Given the description of an element on the screen output the (x, y) to click on. 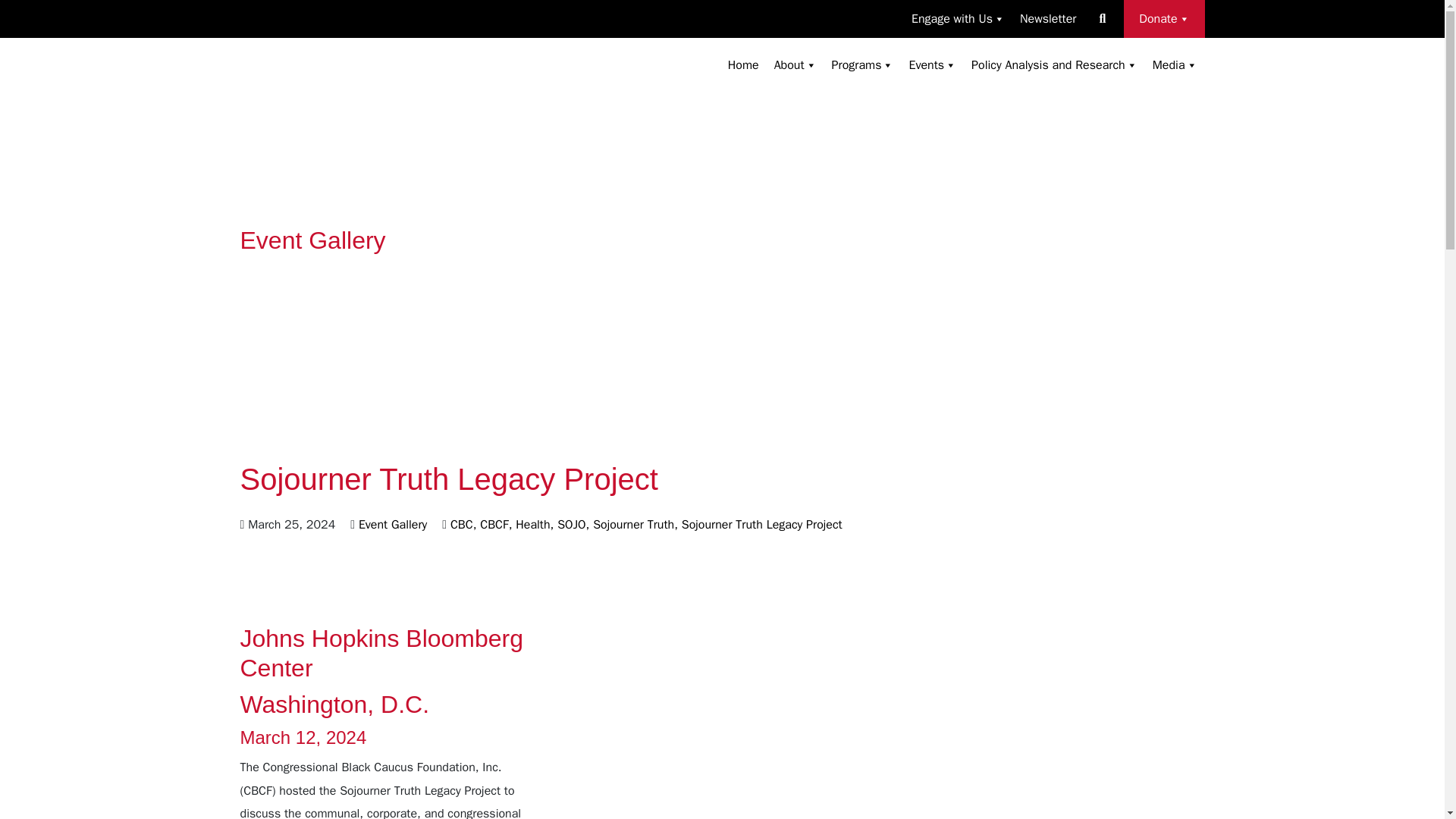
Newsletter (1047, 18)
Home (743, 64)
Donate (1164, 18)
Congressional Black Caucus Foundation (339, 82)
Engage with Us (957, 18)
Programs (862, 64)
About (795, 64)
